Given the description of an element on the screen output the (x, y) to click on. 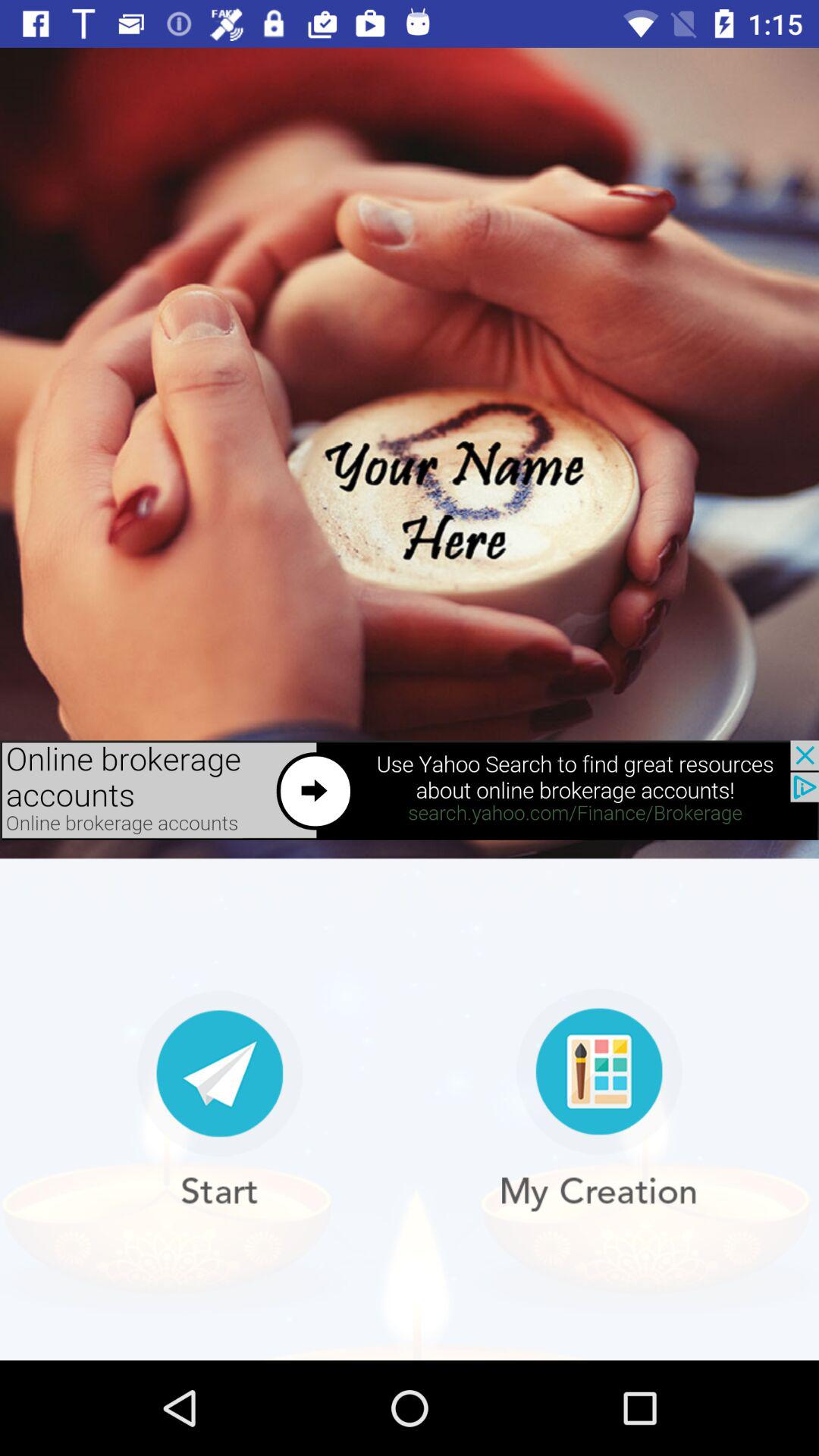
statr icon (219, 1099)
